Given the description of an element on the screen output the (x, y) to click on. 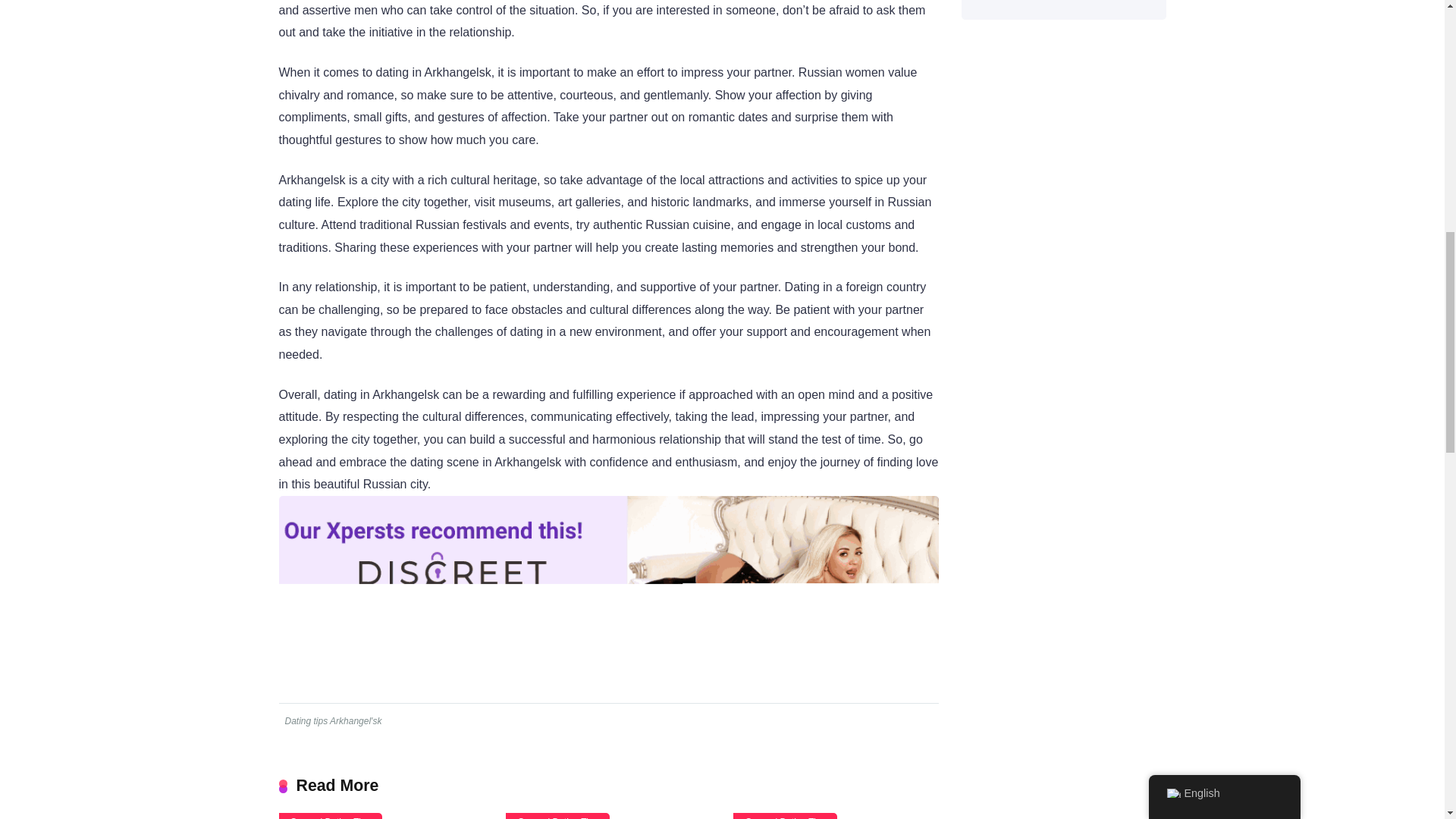
Genaral Dating Tips (556, 816)
Genaral Dating Tips (784, 816)
Dating tips Arkhangel'sk (331, 720)
Genaral Dating Tips (330, 816)
